Given the description of an element on the screen output the (x, y) to click on. 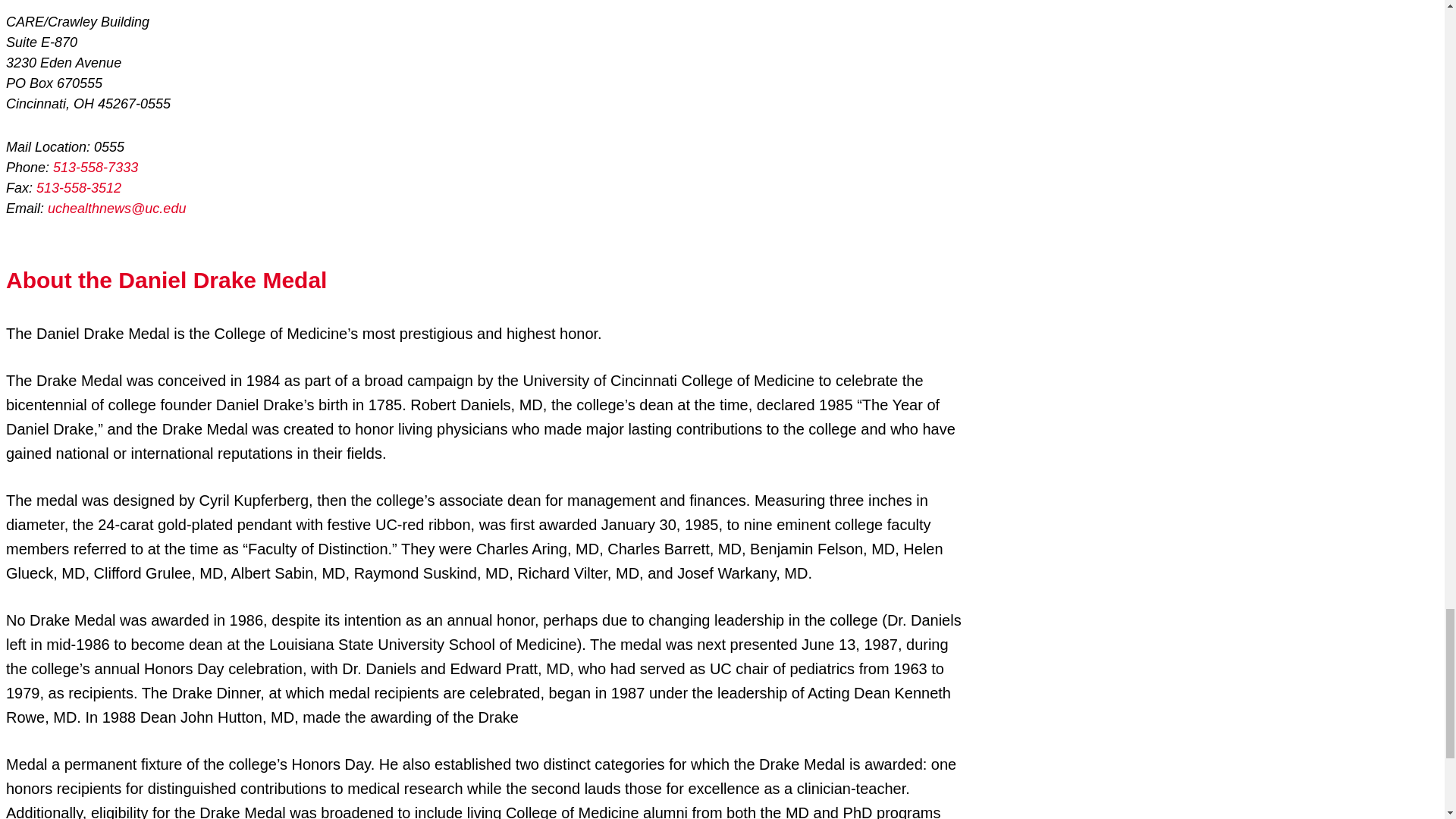
Email the College of Medicine (117, 208)
